Given the description of an element on the screen output the (x, y) to click on. 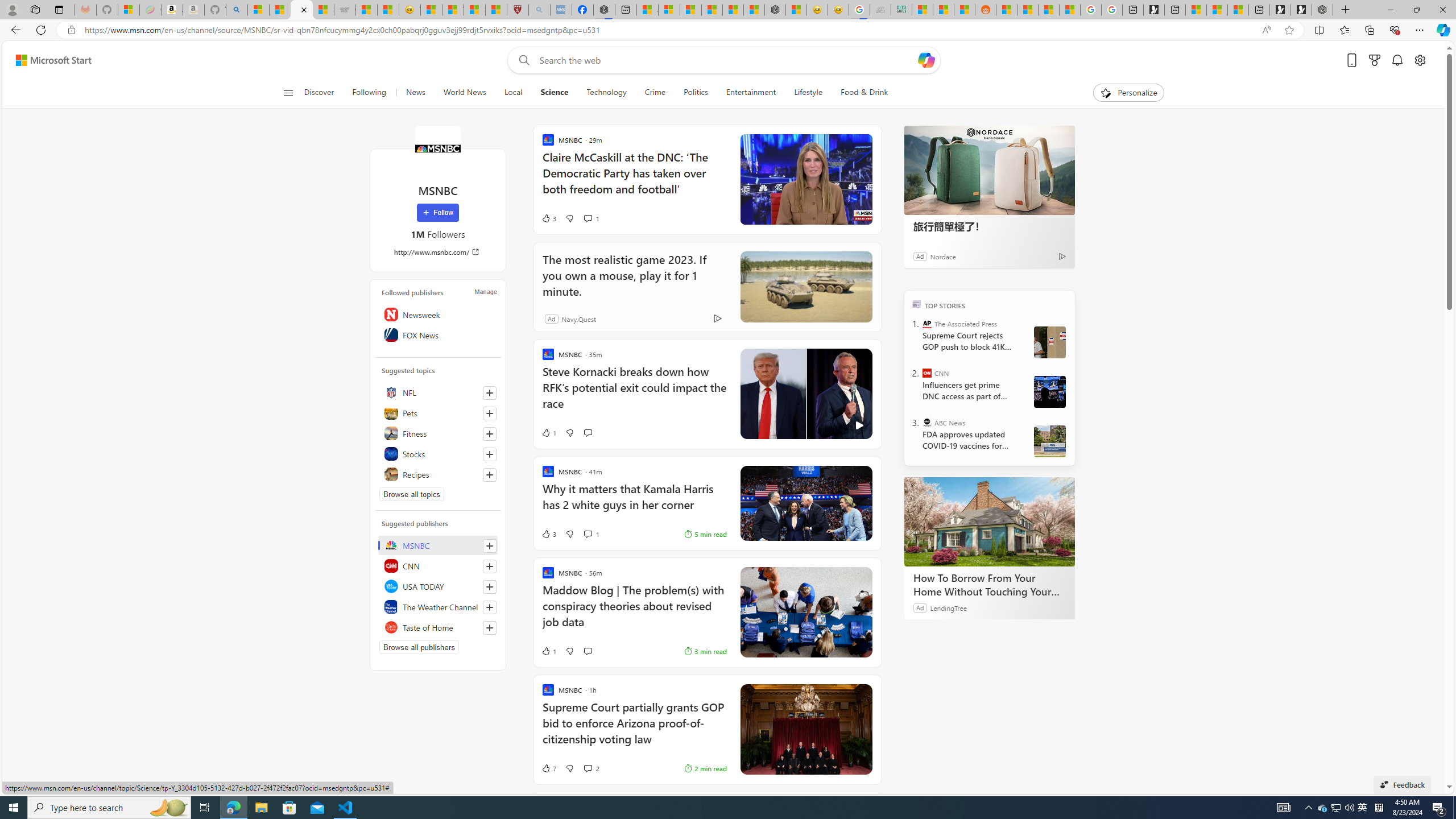
1 Like (547, 650)
Stocks (437, 453)
View comments 1 Comment (587, 533)
Follow this source (489, 627)
How To Borrow From Your Home Without Touching Your Mortgage (988, 584)
View comments 2 Comment (587, 768)
